Given the description of an element on the screen output the (x, y) to click on. 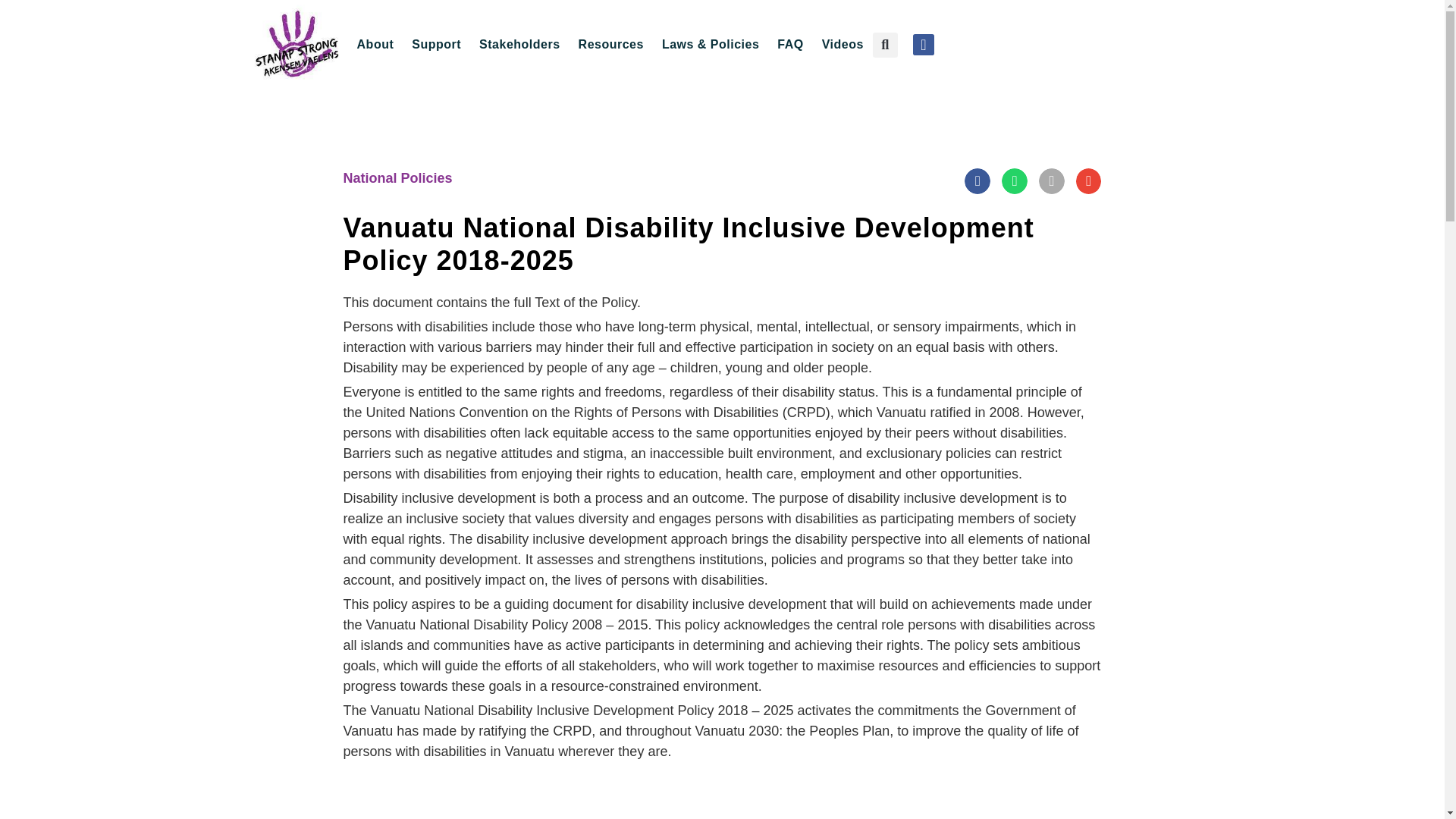
Support (436, 44)
FAQ (790, 44)
Resources (610, 44)
Stakeholders (519, 44)
About (375, 44)
Videos (842, 44)
